Given the description of an element on the screen output the (x, y) to click on. 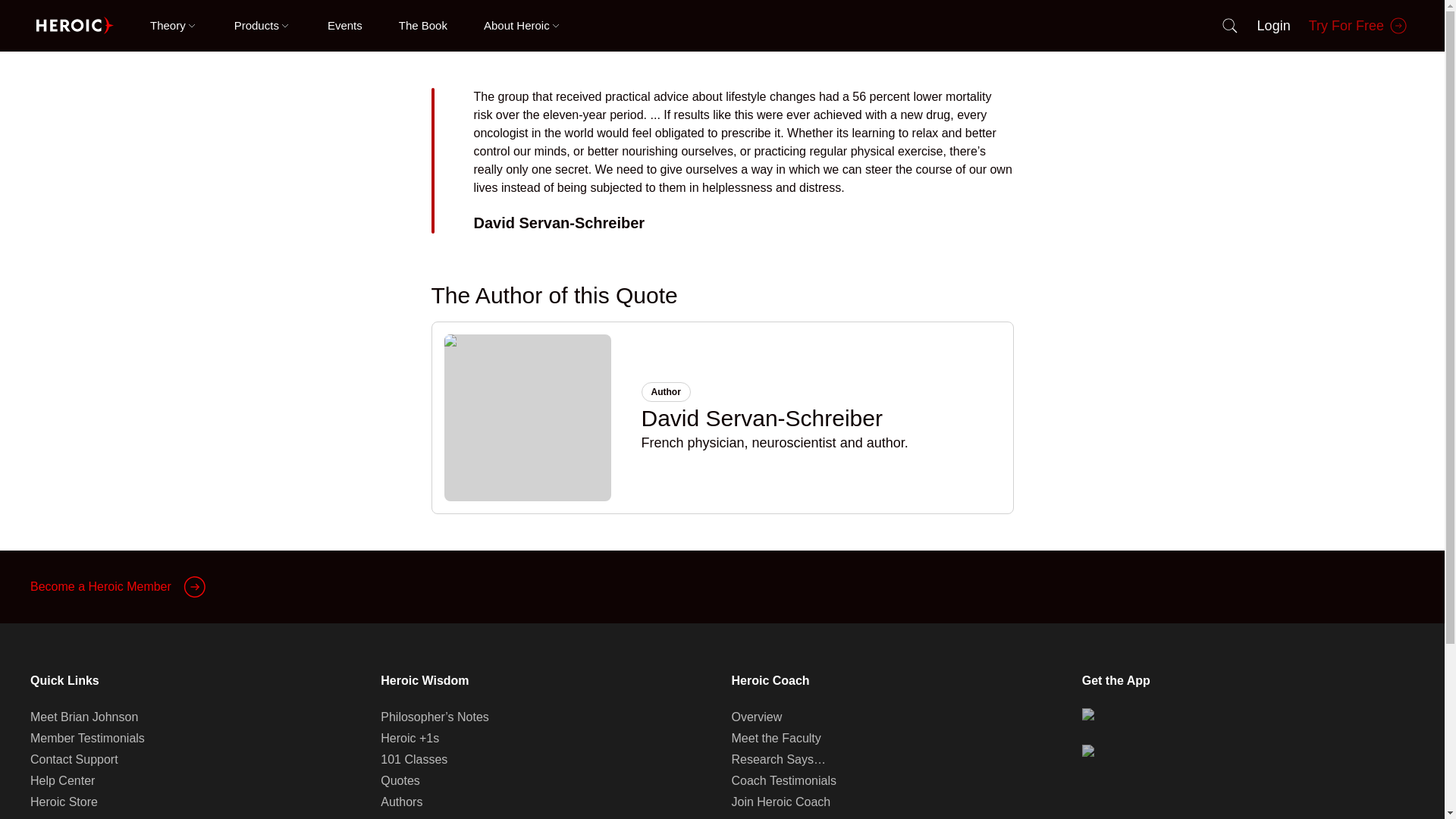
Products (262, 26)
Events (344, 26)
The Book (422, 26)
About Heroic (522, 26)
Theory (173, 26)
